Given the description of an element on the screen output the (x, y) to click on. 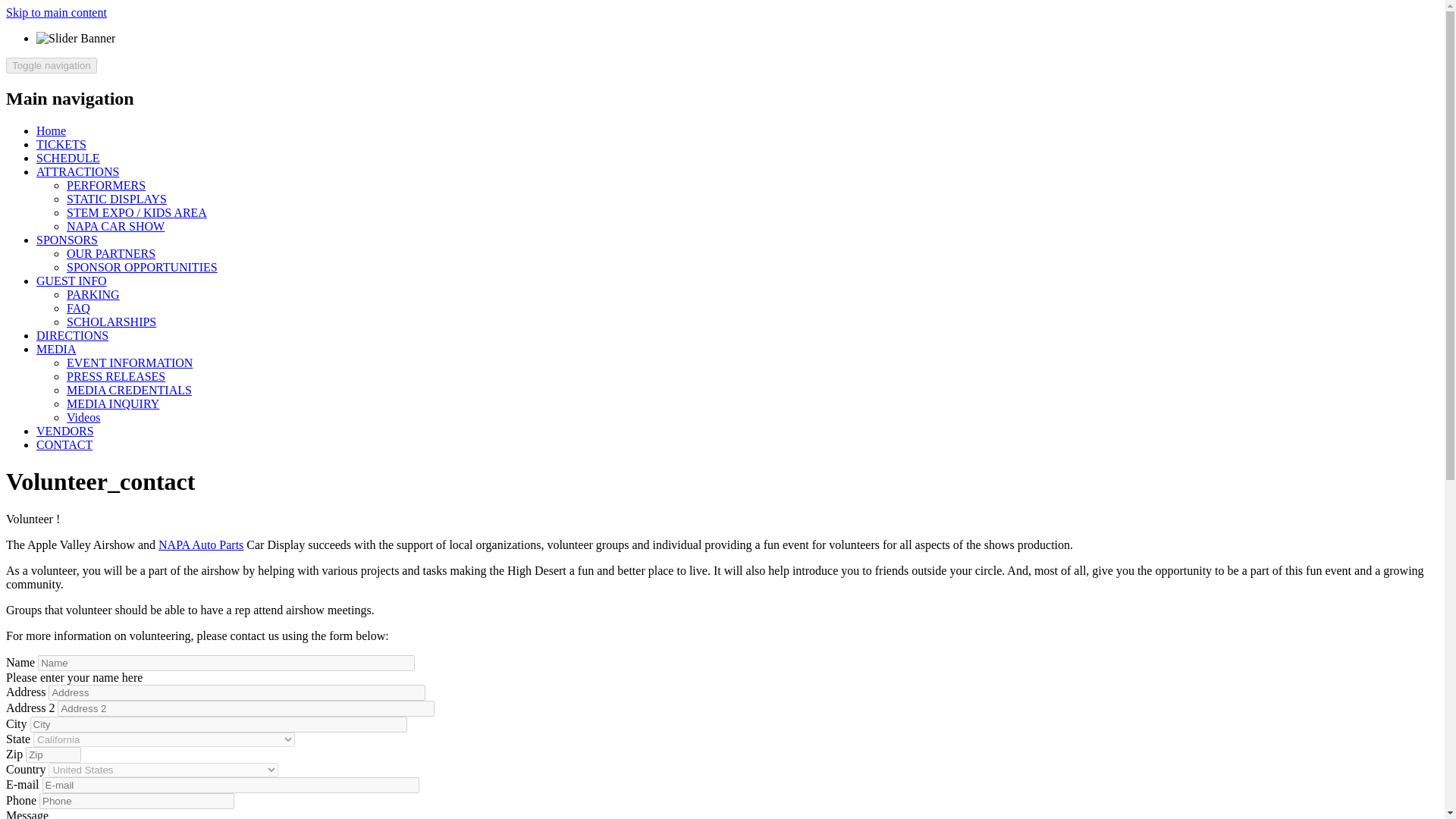
DIRECTIONS (71, 335)
Videos (83, 417)
Schedule1 (68, 157)
GUEST INFO (71, 280)
MEDIA CREDENTIALS (129, 390)
SPONSORS (66, 239)
NAPA CAR SHOW (115, 226)
SCHOLARSHIPS (110, 321)
PERFORMERS (105, 185)
NAPA Car Show (115, 226)
Sponsor Opportunities (141, 267)
Videos (83, 417)
Frequently Asked Questions (78, 308)
VENDORS (65, 431)
STATIC DISPLAYS (116, 198)
